Given the description of an element on the screen output the (x, y) to click on. 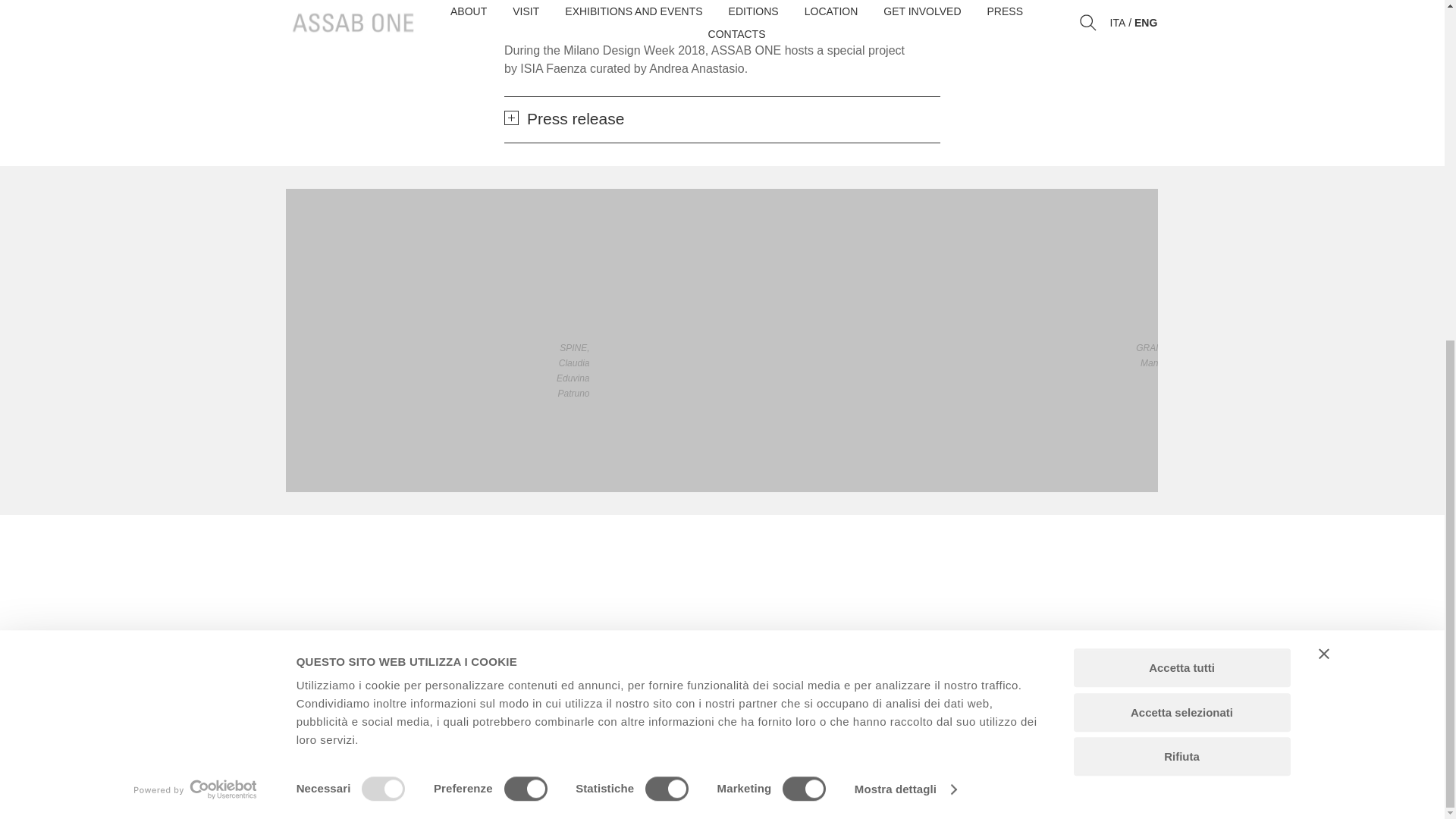
Youtube - Assab One (1075, 715)
Rifiuta (1182, 179)
Mostra dettagli (905, 212)
Accetta tutti (1182, 91)
Accetta selezionati (1182, 136)
